Given the description of an element on the screen output the (x, y) to click on. 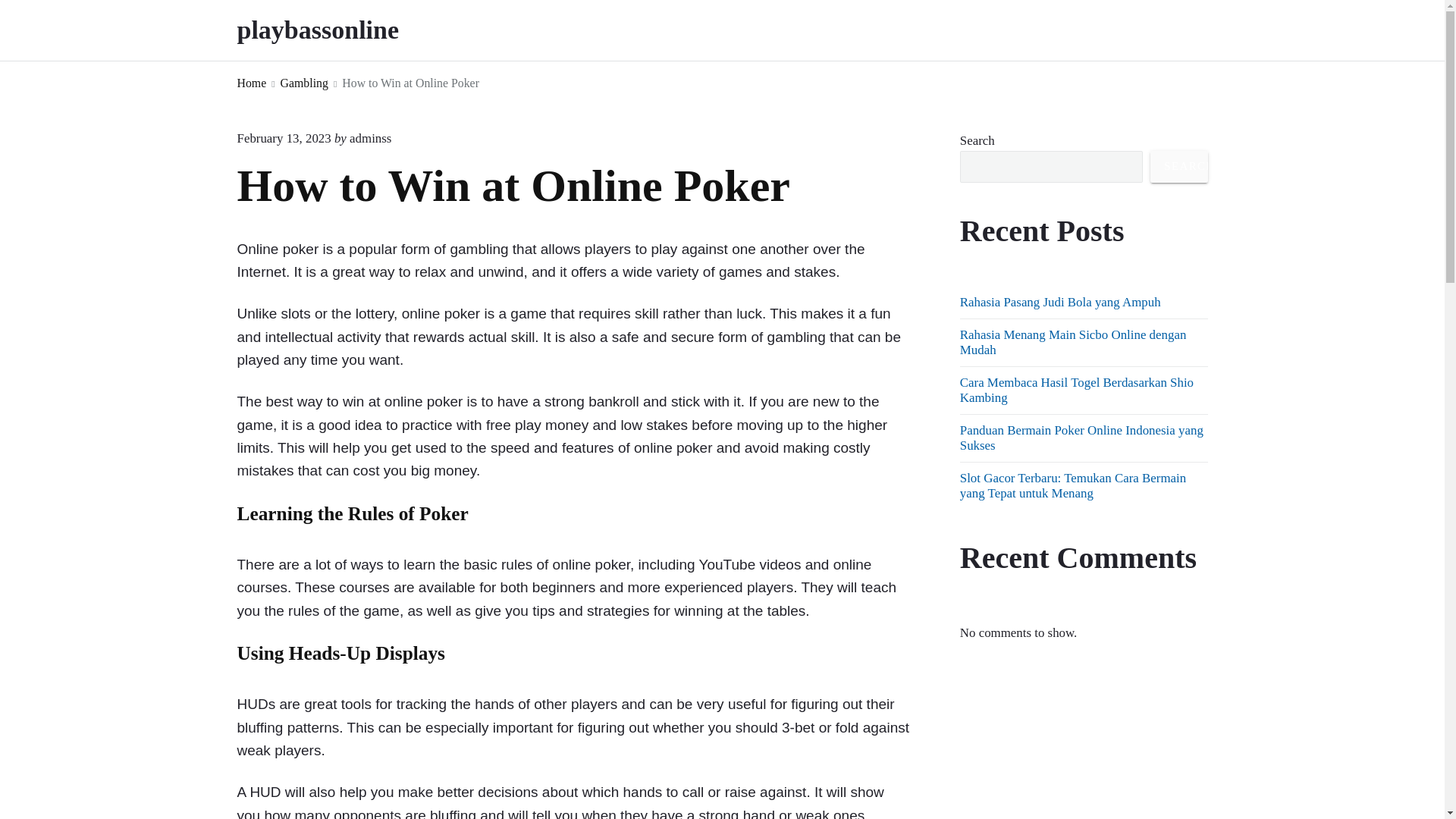
Monday, February 13, 2023, 11:40 am (282, 138)
adminss (370, 138)
Rahasia Menang Main Sicbo Online dengan Mudah (1072, 342)
Home (250, 82)
Rahasia Pasang Judi Bola yang Ampuh (1059, 301)
Panduan Bermain Poker Online Indonesia yang Sukses (1081, 437)
playbassonline (338, 30)
Gambling (305, 82)
SEARCH (1179, 166)
